Given the description of an element on the screen output the (x, y) to click on. 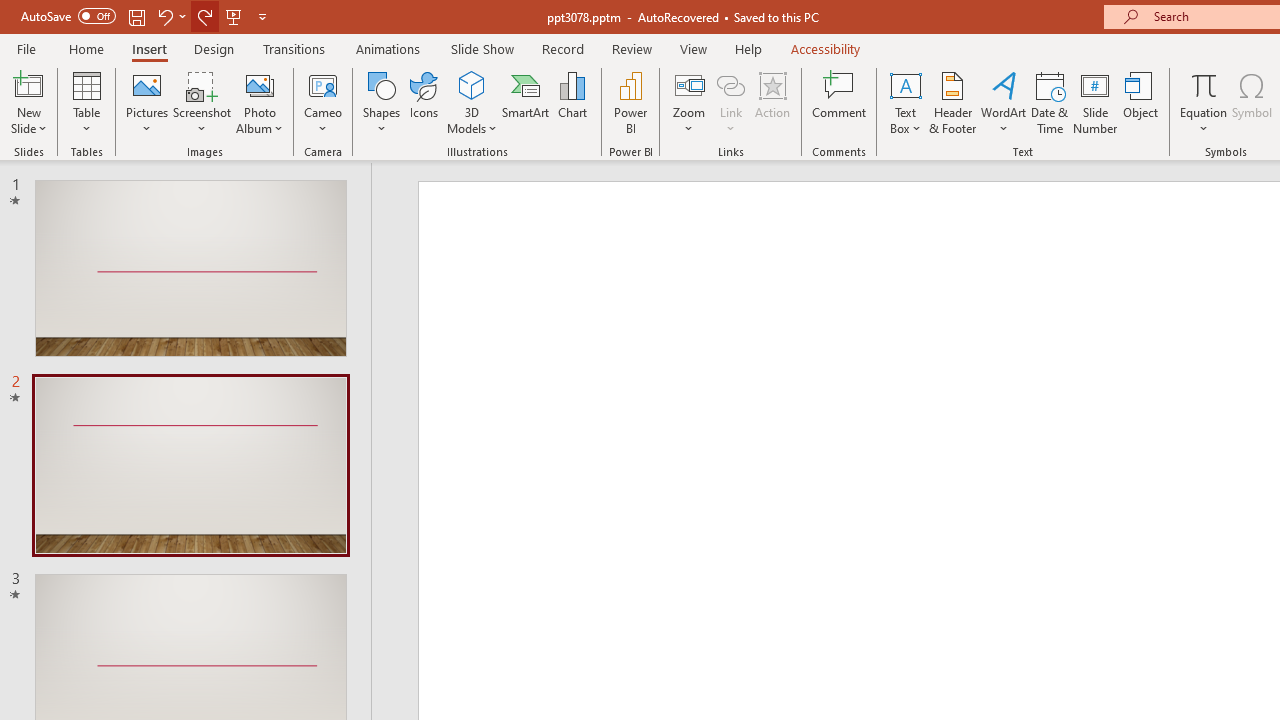
Chart... (572, 102)
SmartArt... (525, 102)
Comment (839, 102)
Object... (1141, 102)
